Given the description of an element on the screen output the (x, y) to click on. 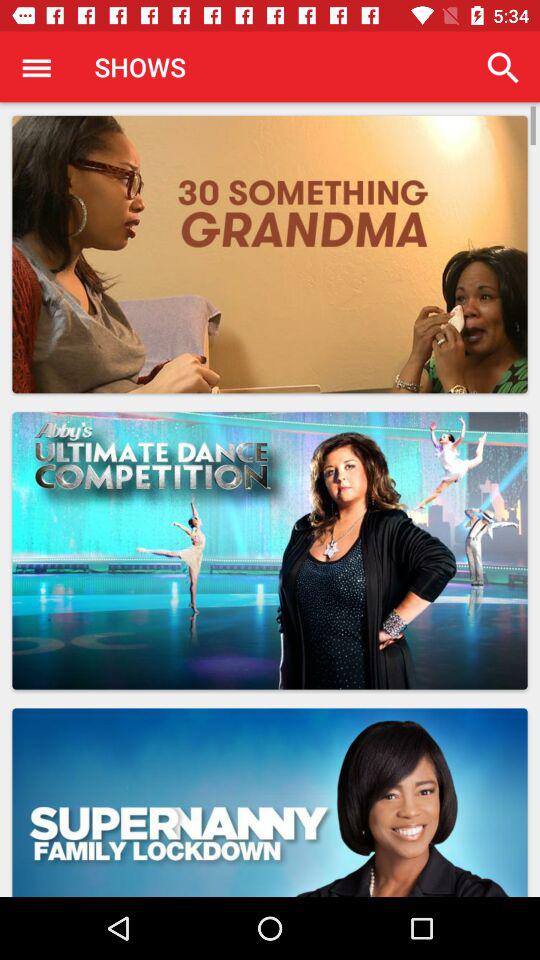
press item at the top right corner (503, 67)
